Given the description of an element on the screen output the (x, y) to click on. 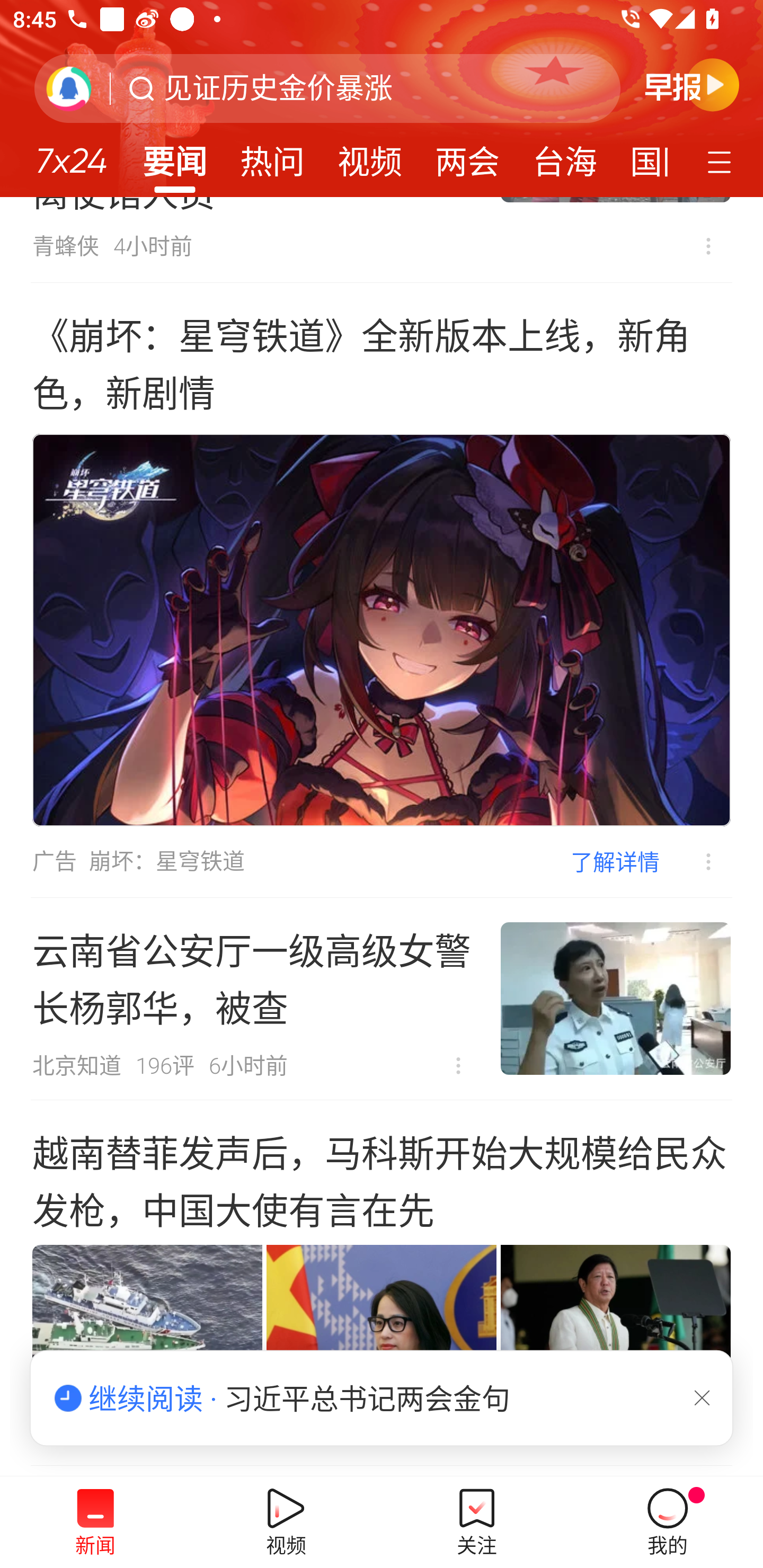
腾讯新闻 (381, 98)
早晚报 (691, 84)
刷新 (68, 88)
见证历史金价暴涨 (278, 88)
7x24 (70, 154)
要闻 (174, 155)
热问 (272, 155)
视频 (369, 155)
两会 (466, 155)
台海 (564, 155)
 定制频道 (721, 160)
 不感兴趣 (707, 246)
《崩坏：星穹铁道》全新版本上线，新角色，新剧情 (381, 362)
 不感兴趣 (694, 861)
了解详情 (614, 861)
广告 (54, 861)
崩坏：星穹铁道 (166, 861)
云南省公安厅一级高级女警长杨郭华，被查 北京知道 196评 6小时前  不感兴趣 (381, 998)
 不感兴趣 (458, 1066)
继续阅读 ·  习近平总书记两会金句  (381, 1398)
 (702, 1397)
